Given the description of an element on the screen output the (x, y) to click on. 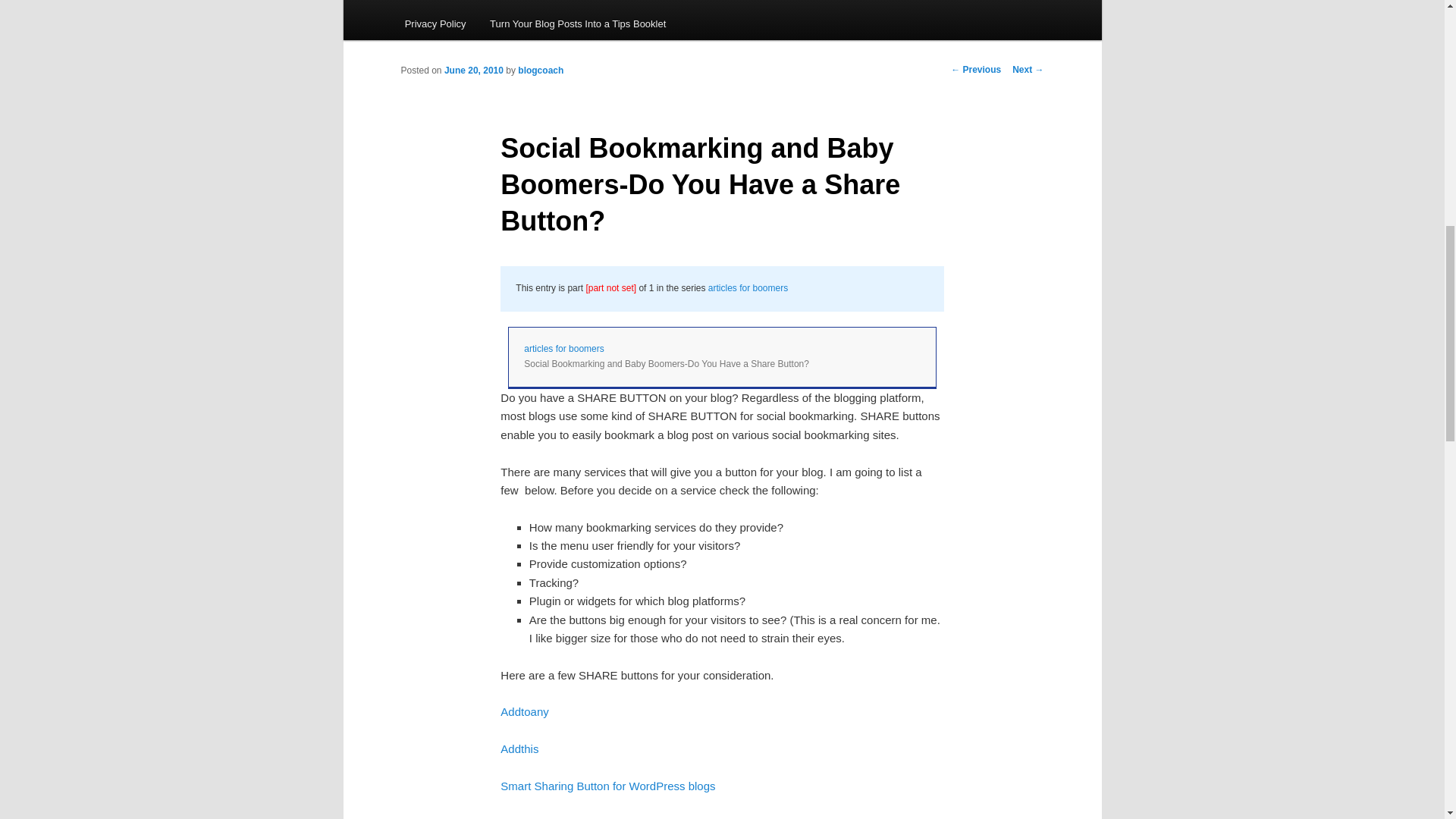
Join The Blogging For Boomers Facebook Group (861, 3)
articles for boomers (564, 348)
View all posts by blogcoach (540, 70)
articles for boomers (564, 348)
articles for boomers (747, 287)
Share This (527, 817)
Privacy Policy (435, 23)
blogcoach (540, 70)
About (467, 3)
Addtoany (524, 711)
